Given the description of an element on the screen output the (x, y) to click on. 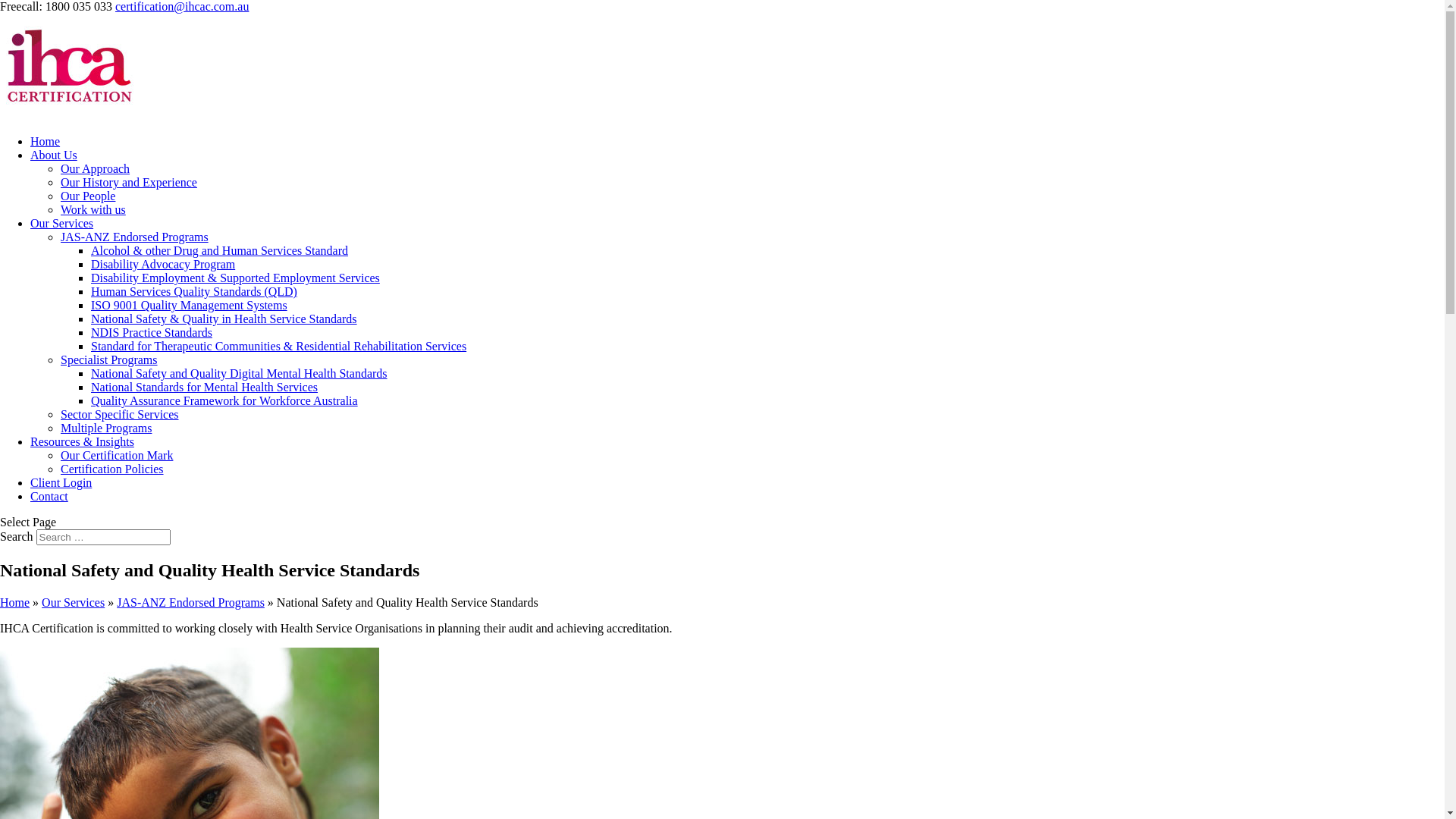
Contact Element type: text (49, 495)
Search for: Element type: hover (103, 537)
Alcohol & other Drug and Human Services Standard Element type: text (219, 250)
National Standards for Mental Health Services Element type: text (204, 386)
Our Certification Mark Element type: text (116, 454)
Sector Specific Services Element type: text (119, 413)
ISO 9001 Quality Management Systems Element type: text (189, 304)
Certification Policies Element type: text (111, 468)
NDIS Practice Standards Element type: text (151, 332)
Our People Element type: text (87, 195)
Home Element type: text (44, 140)
National Safety & Quality in Health Service Standards Element type: text (224, 318)
National Safety and Quality Digital Mental Health Standards Element type: text (239, 373)
Client Login Element type: text (60, 482)
Our History and Experience Element type: text (128, 181)
Disability Employment & Supported Employment Services Element type: text (235, 277)
certification@ihcac.com.au Element type: text (181, 6)
Our Services Element type: text (72, 602)
Work with us Element type: text (92, 209)
JAS-ANZ Endorsed Programs Element type: text (190, 602)
Our Services Element type: text (61, 222)
Human Services Quality Standards (QLD) Element type: text (194, 291)
Specialist Programs Element type: text (108, 359)
Multiple Programs Element type: text (105, 427)
Disability Advocacy Program Element type: text (163, 263)
JAS-ANZ Endorsed Programs Element type: text (134, 236)
Home Element type: text (14, 602)
About Us Element type: text (53, 154)
Quality Assurance Framework for Workforce Australia Element type: text (224, 400)
Our Approach Element type: text (94, 168)
Resources & Insights Element type: text (82, 441)
